Given the description of an element on the screen output the (x, y) to click on. 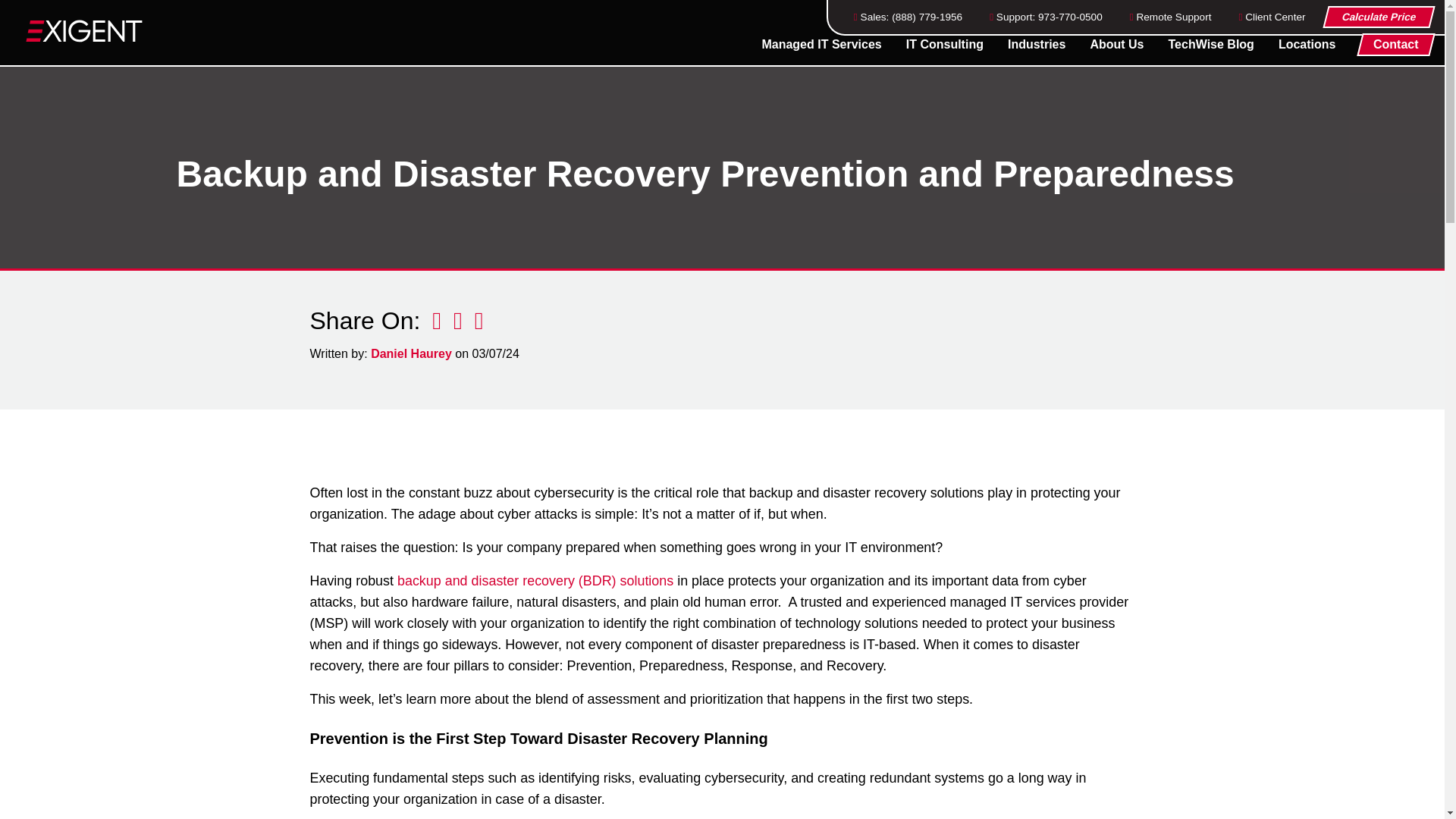
Calculate Price (1376, 16)
Managed IT Services (820, 44)
Client Center (1271, 16)
Support: 973-770-0500 (1046, 16)
Remote Support (1170, 16)
